Given the description of an element on the screen output the (x, y) to click on. 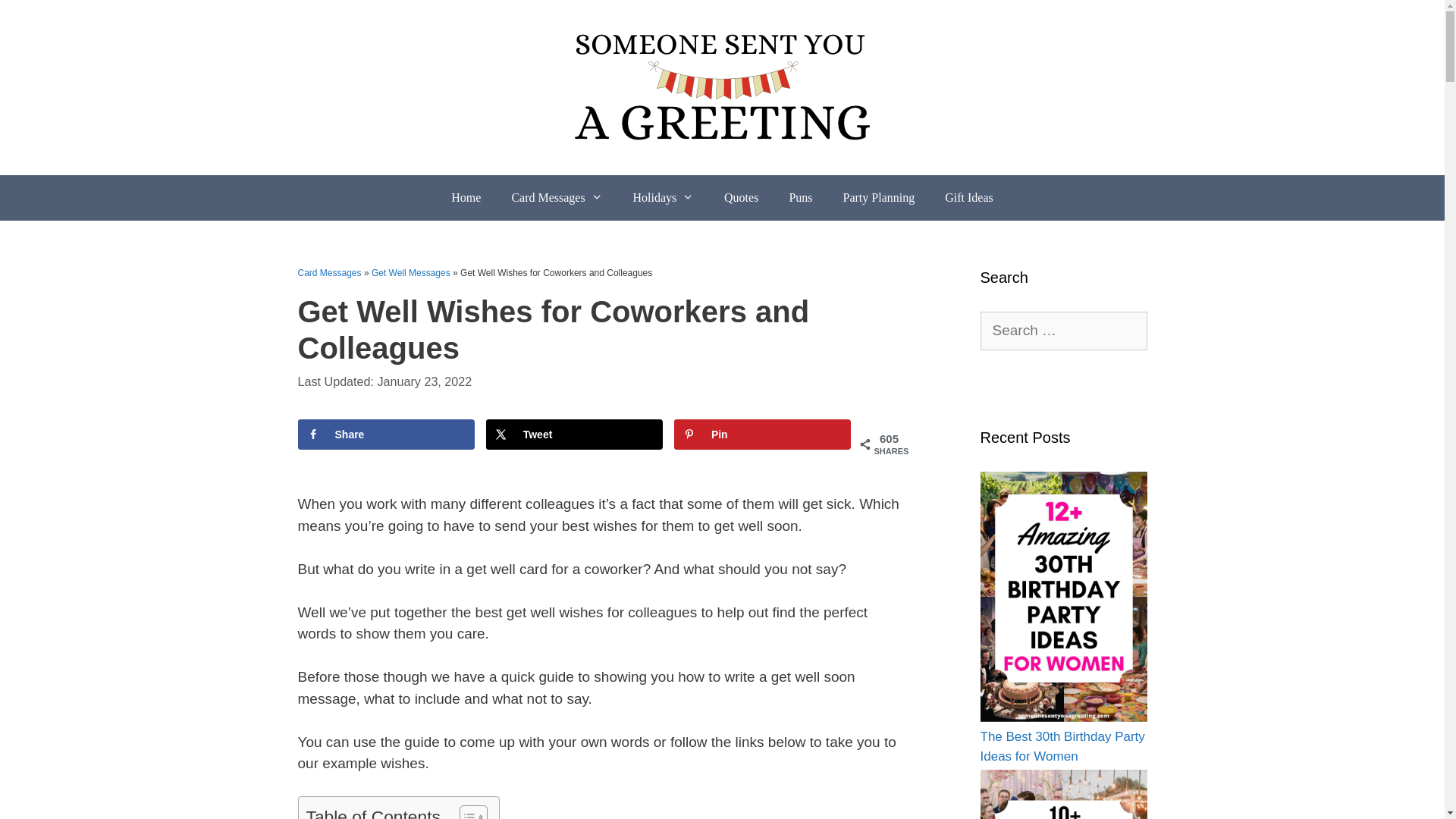
Card Messages (556, 197)
Share on X (574, 434)
Save to Pinterest (762, 434)
Share on Facebook (385, 434)
Pin (762, 434)
Share (385, 434)
Puns (800, 197)
Gift Ideas (969, 197)
Home (465, 197)
Holidays (663, 197)
Tweet (574, 434)
Party Planning (879, 197)
Card Messages (329, 272)
Get Well Messages (410, 272)
Quotes (741, 197)
